Given the description of an element on the screen output the (x, y) to click on. 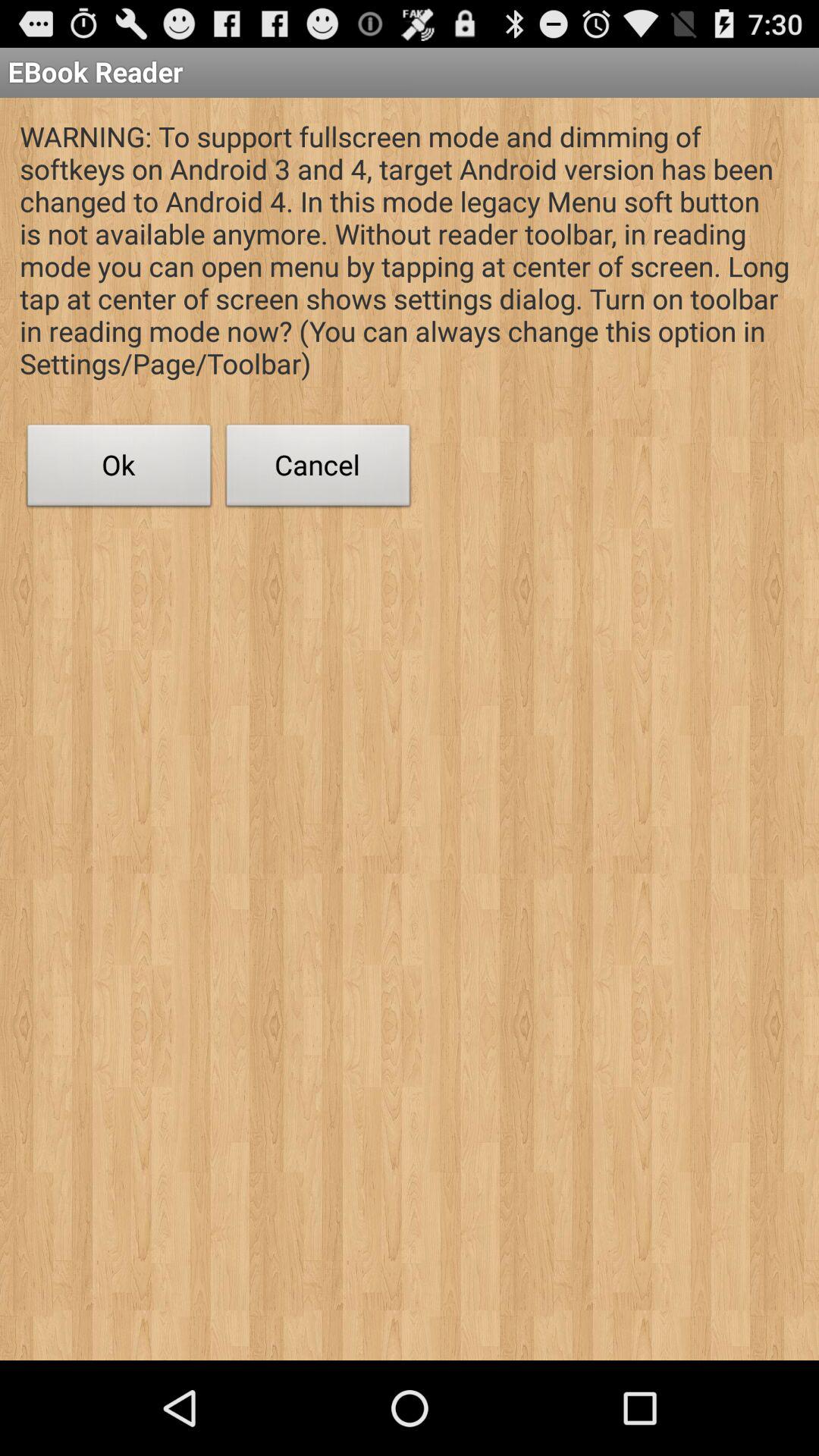
select the item to the left of cancel button (118, 469)
